Given the description of an element on the screen output the (x, y) to click on. 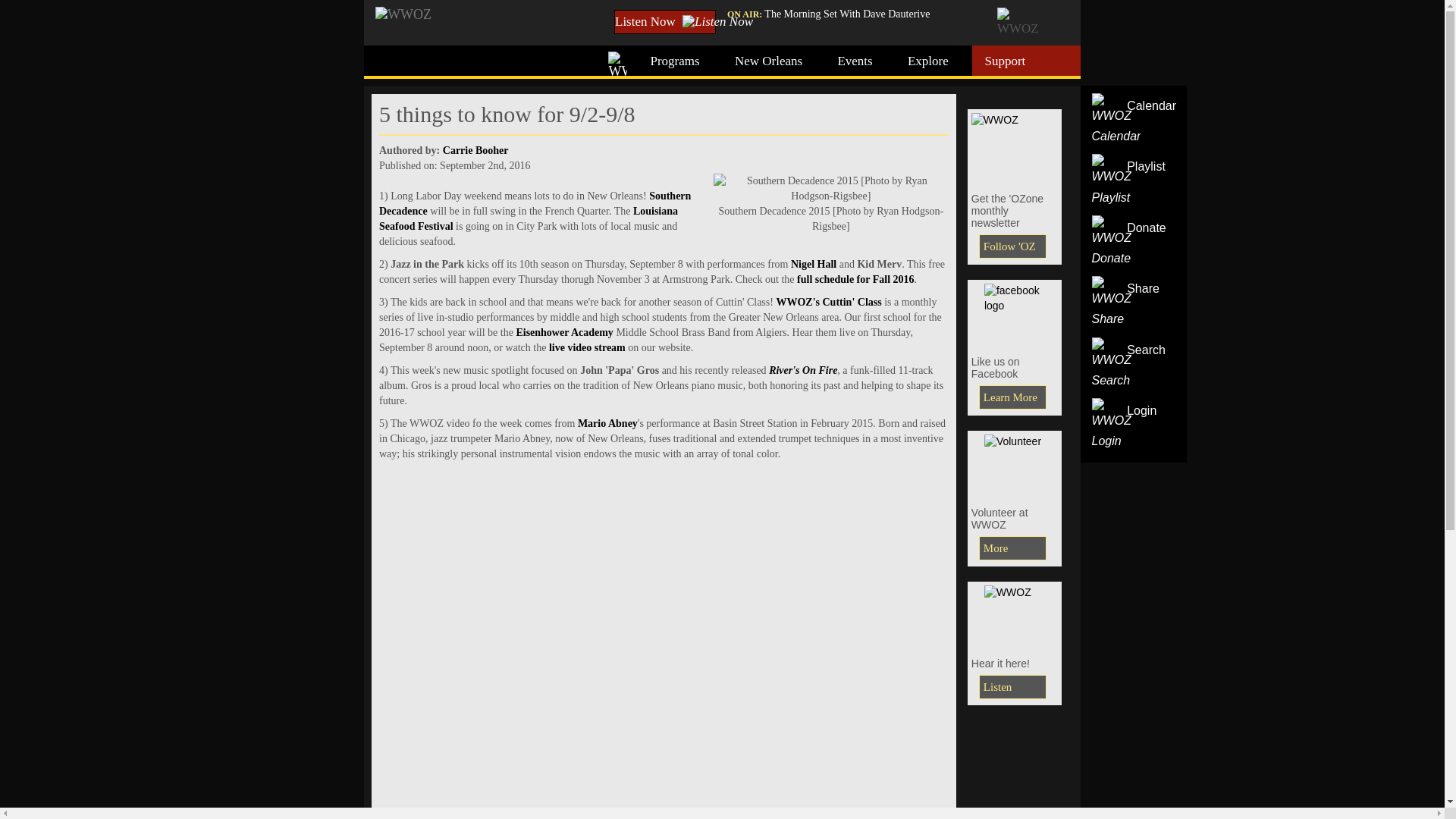
Facebook (1014, 314)
Listen Now (665, 21)
WWOZ Calendar (1116, 119)
Listen Live (1014, 615)
The Morning Set With Dave Dauterive (847, 13)
Get the 'OZone monthly newsletter (1014, 146)
Listen Live (1012, 686)
Facebook (1012, 396)
Volunteer (1012, 548)
Get the 'OZone monthly newsletter (1012, 246)
Navy Guardians Tee (1014, 464)
